Given the description of an element on the screen output the (x, y) to click on. 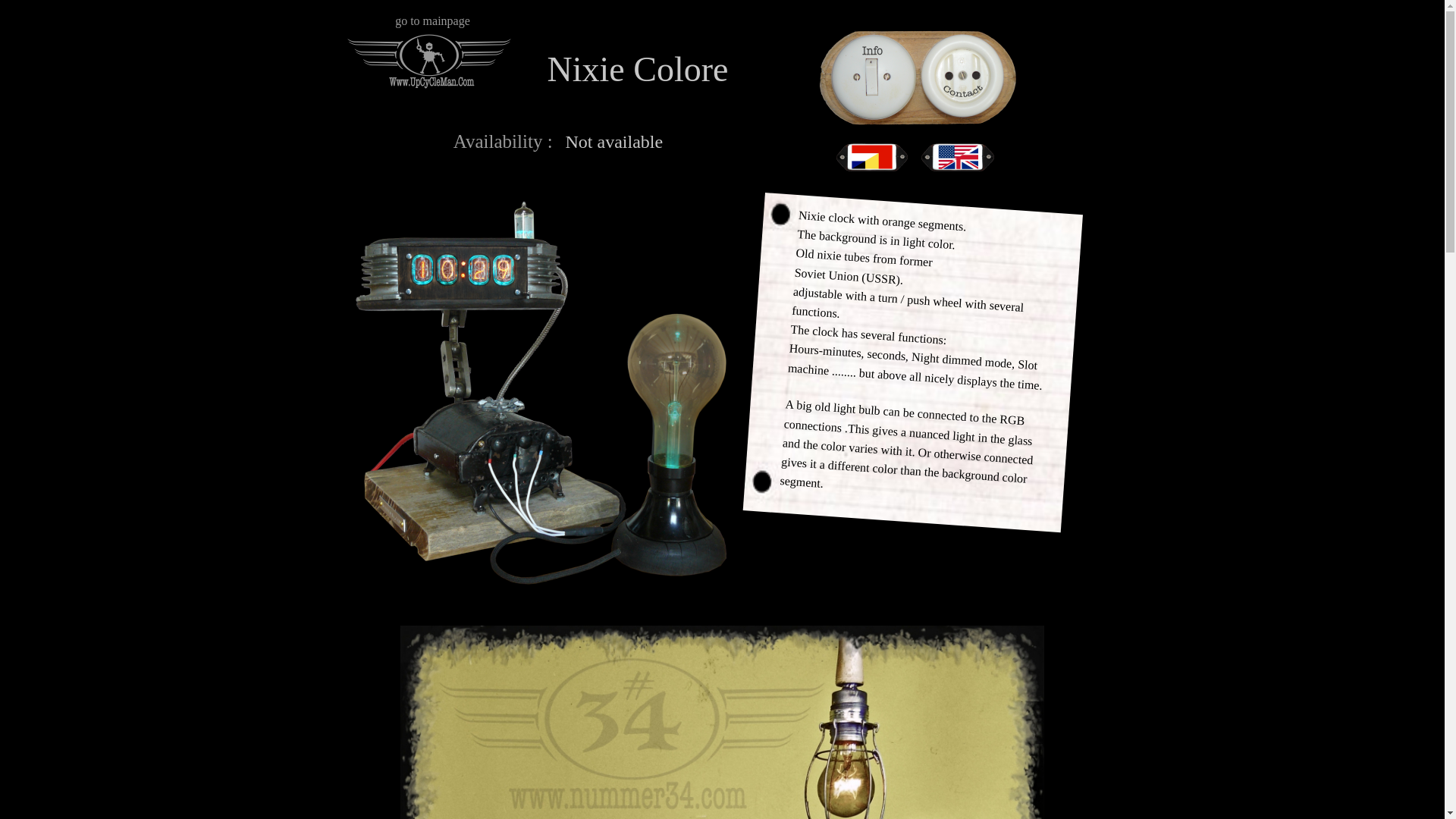
click for email or go to bottom of page for contact form (917, 77)
